Given the description of an element on the screen output the (x, y) to click on. 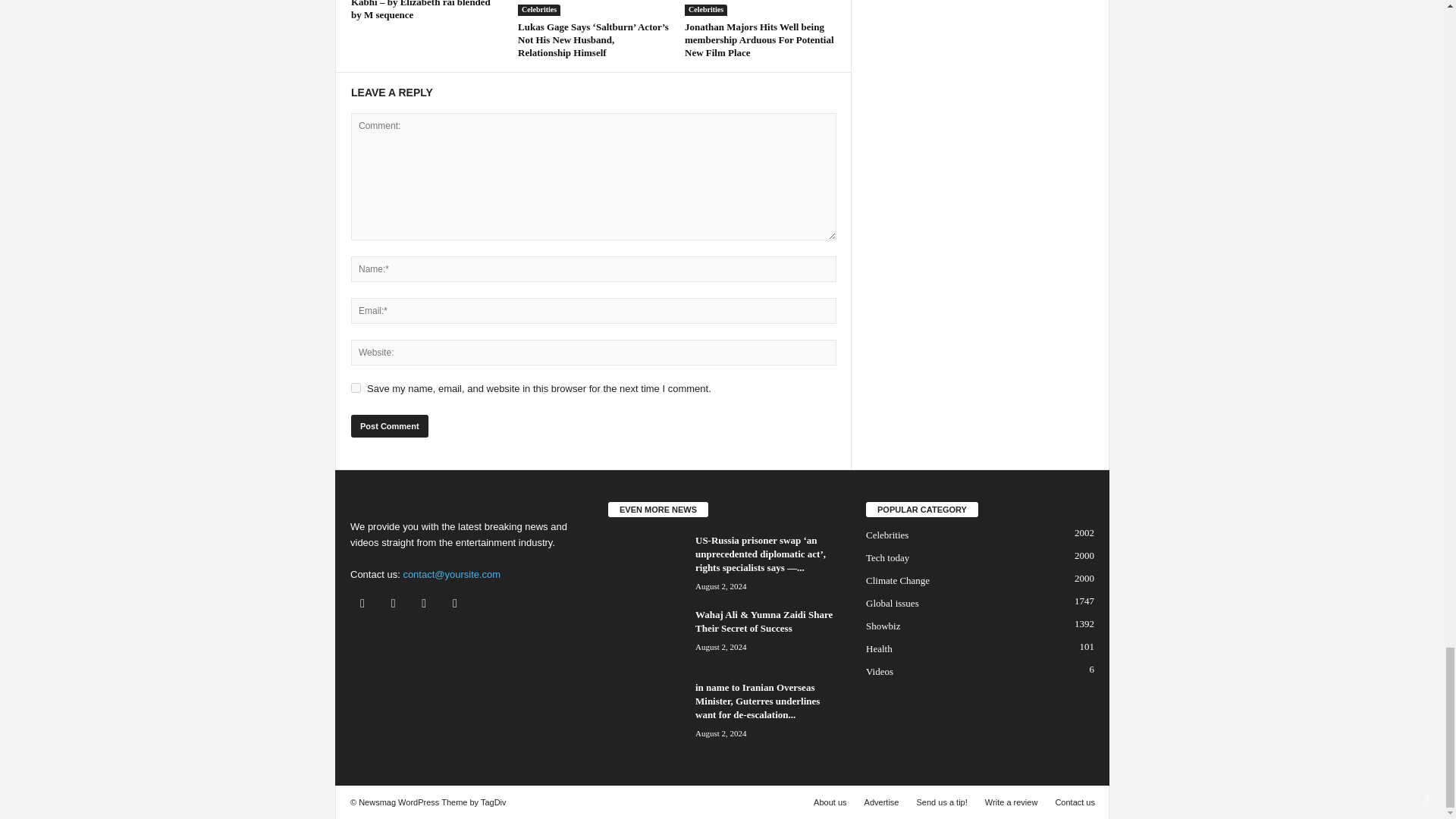
Post Comment (389, 425)
yes (355, 388)
